Given the description of an element on the screen output the (x, y) to click on. 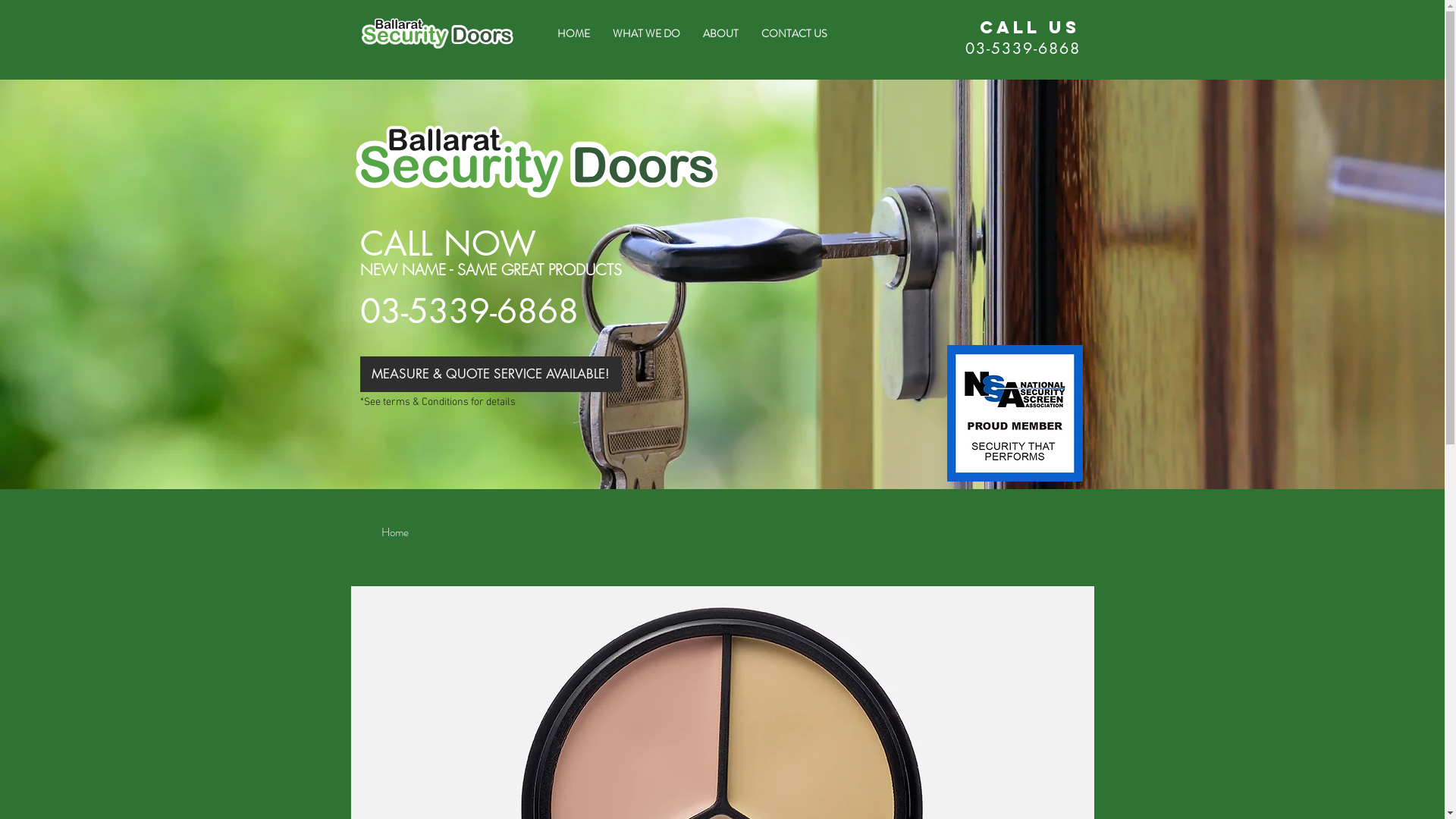
ABOUT Element type: text (720, 33)
CONTACT US Element type: text (793, 33)
nssa-logo-330.png Element type: hover (1014, 413)
Home Element type: text (393, 532)
HOME Element type: text (573, 33)
WHAT WE DO Element type: text (645, 33)
MEASURE & QUOTE SERVICE AVAILABLE! Element type: text (490, 374)
